Given the description of an element on the screen output the (x, y) to click on. 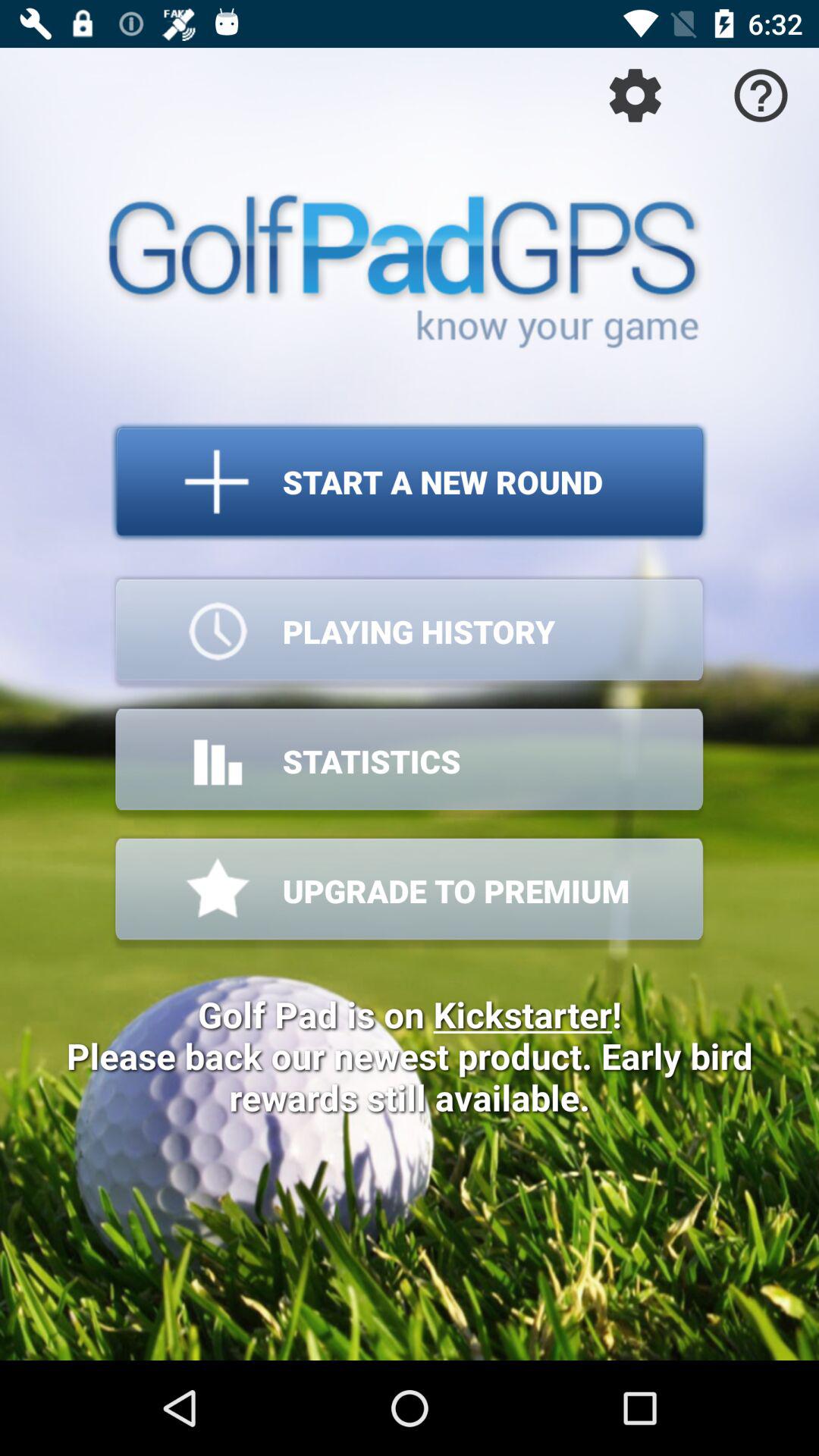
help (760, 95)
